Given the description of an element on the screen output the (x, y) to click on. 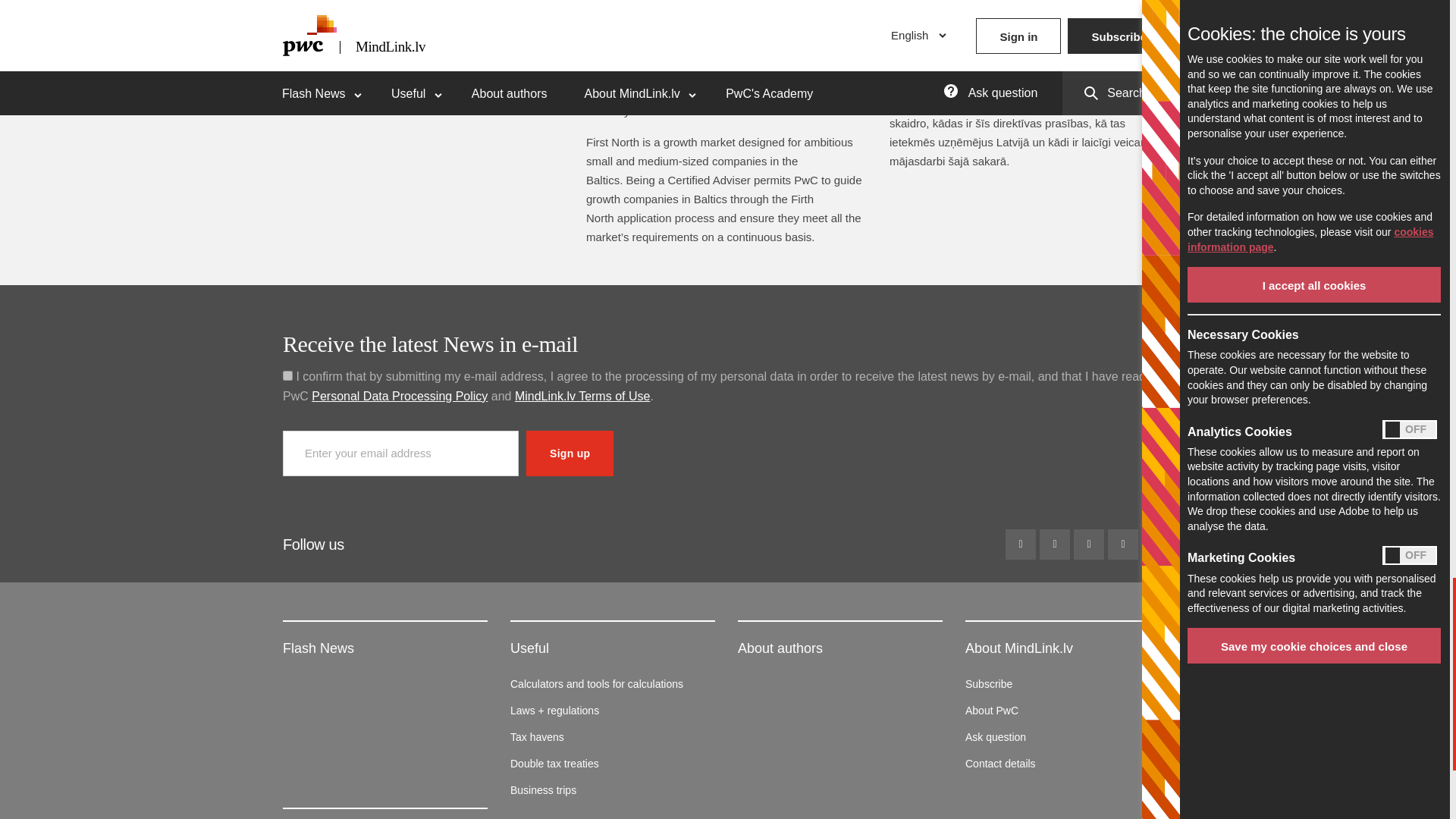
Sign up (568, 452)
on (287, 375)
